Given the description of an element on the screen output the (x, y) to click on. 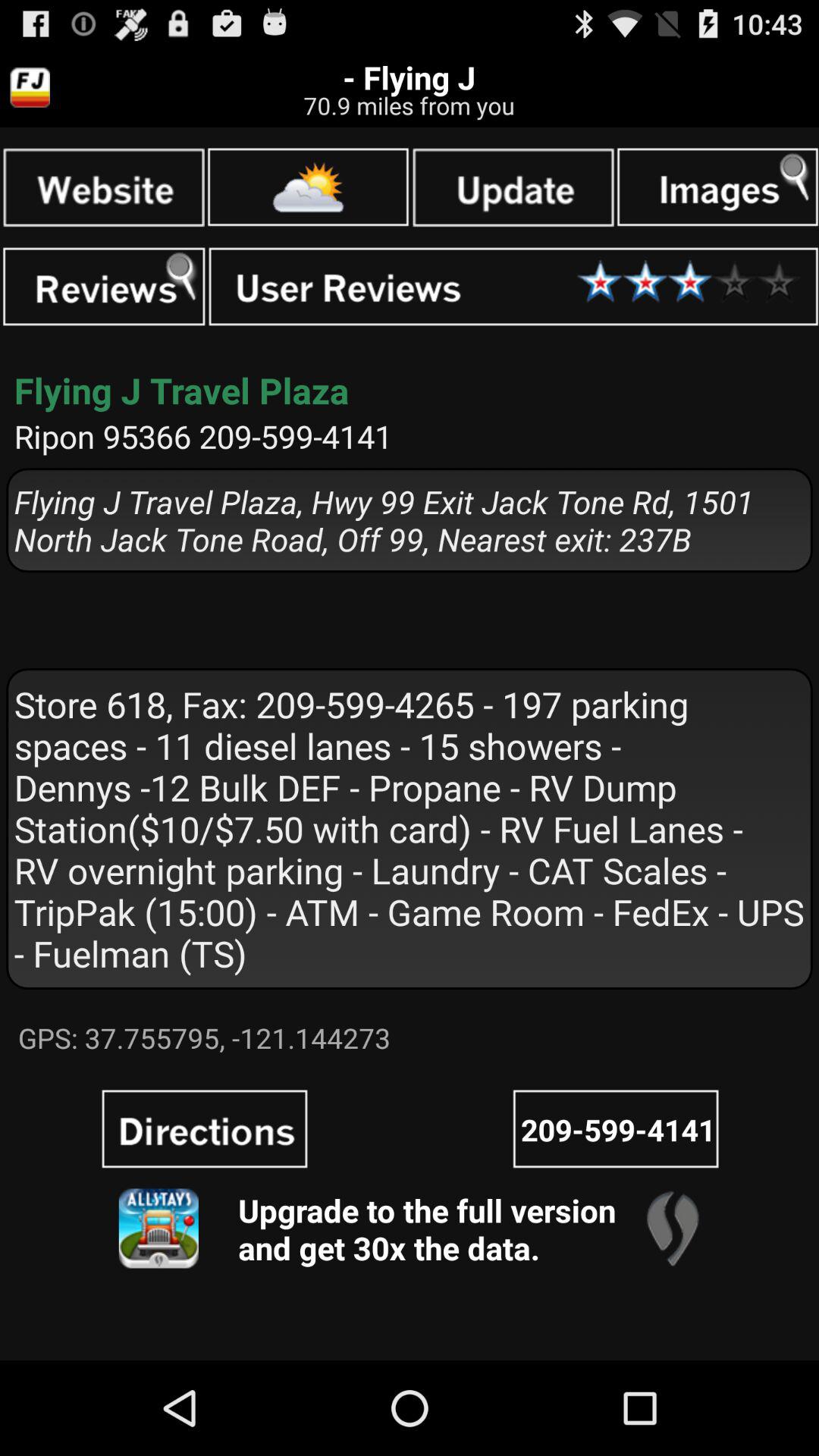
update the app (512, 186)
